Given the description of an element on the screen output the (x, y) to click on. 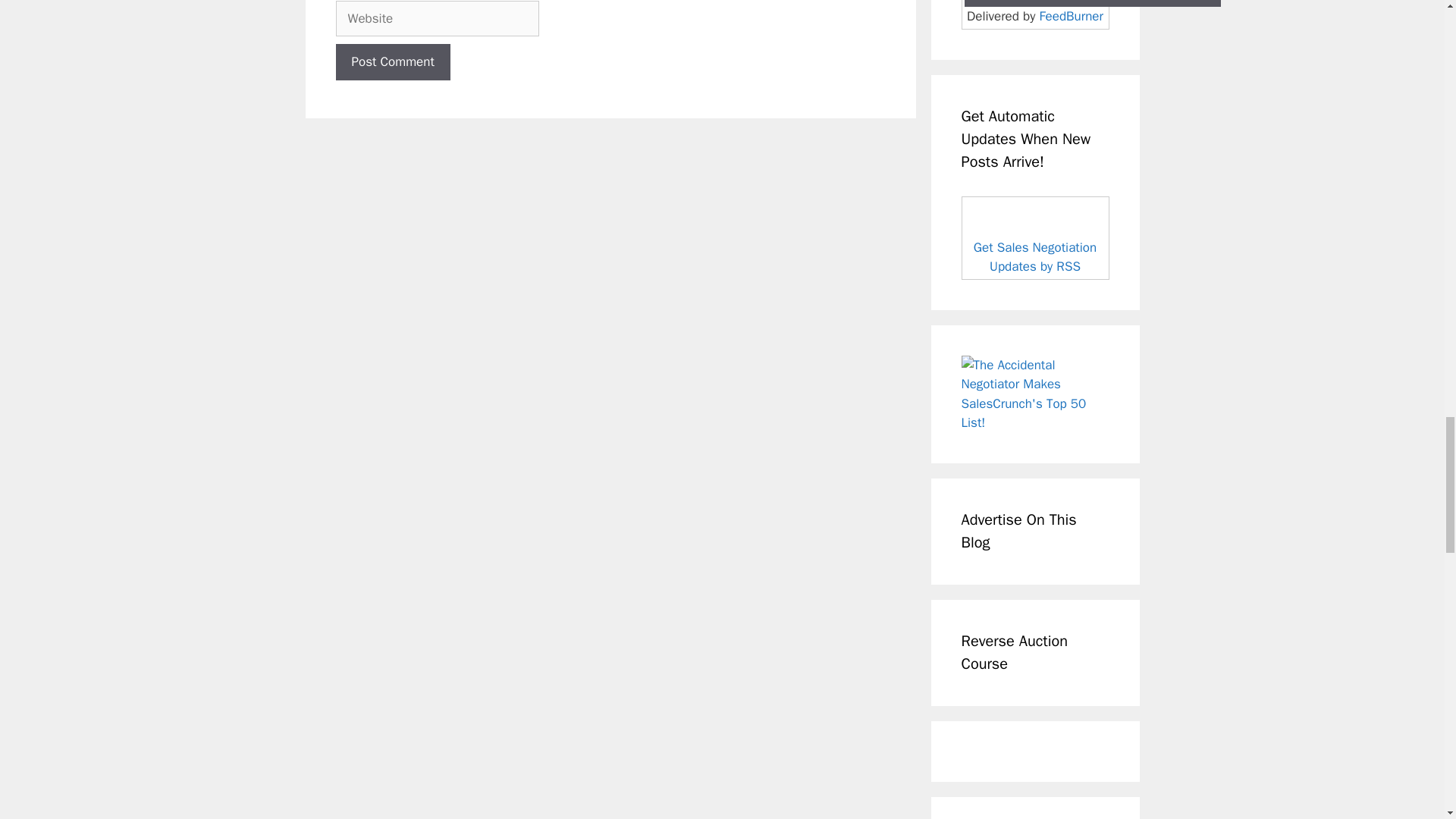
Get Sales Negotiation Updates by RSS (1035, 257)
Get Sales Negotiation Updates by Email (1092, 3)
Post Comment (391, 62)
Subscribe to my feed (1034, 238)
Post Comment (391, 62)
